Given the description of an element on the screen output the (x, y) to click on. 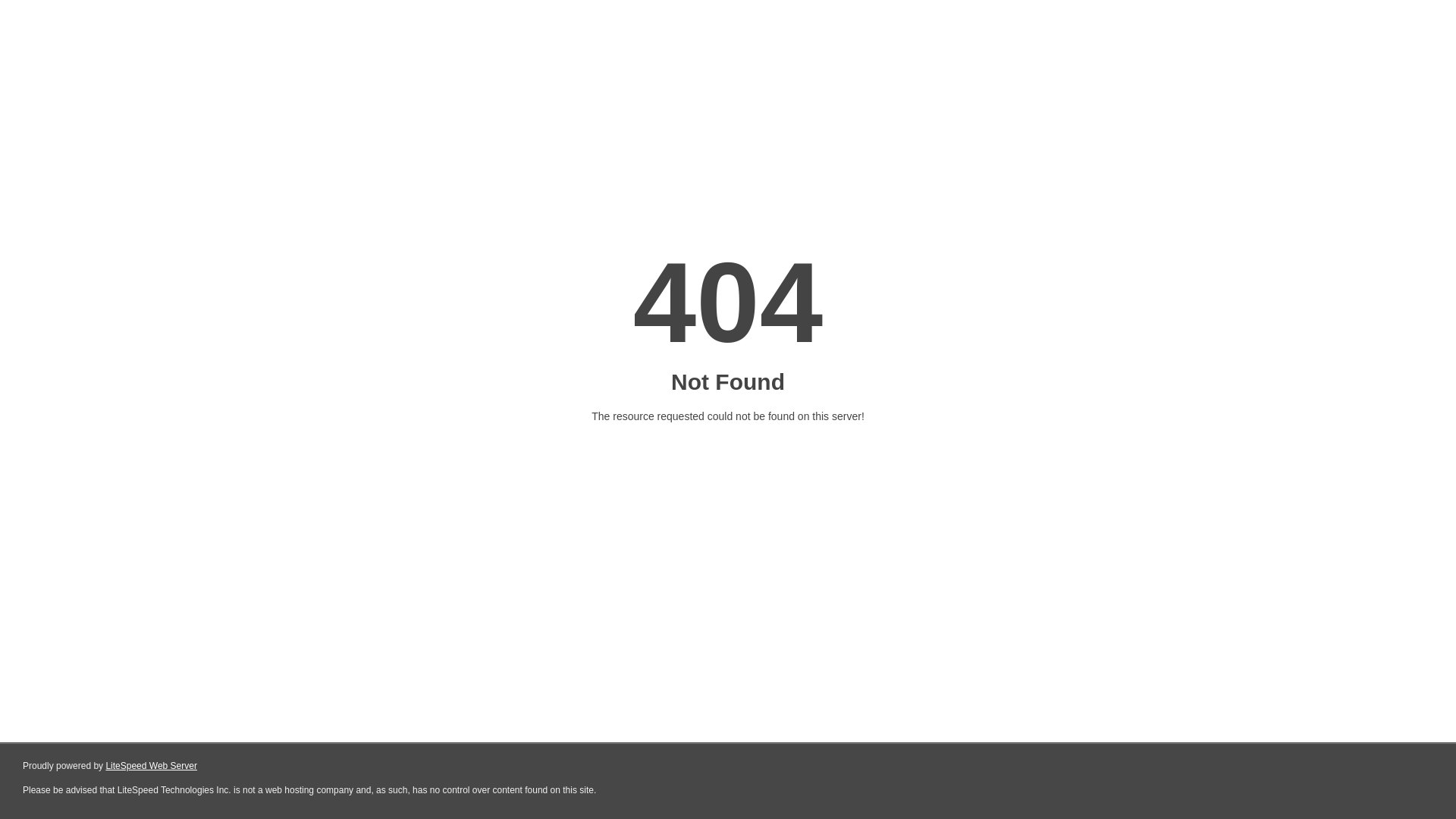
LiteSpeed Web Server Element type: text (151, 765)
